Given the description of an element on the screen output the (x, y) to click on. 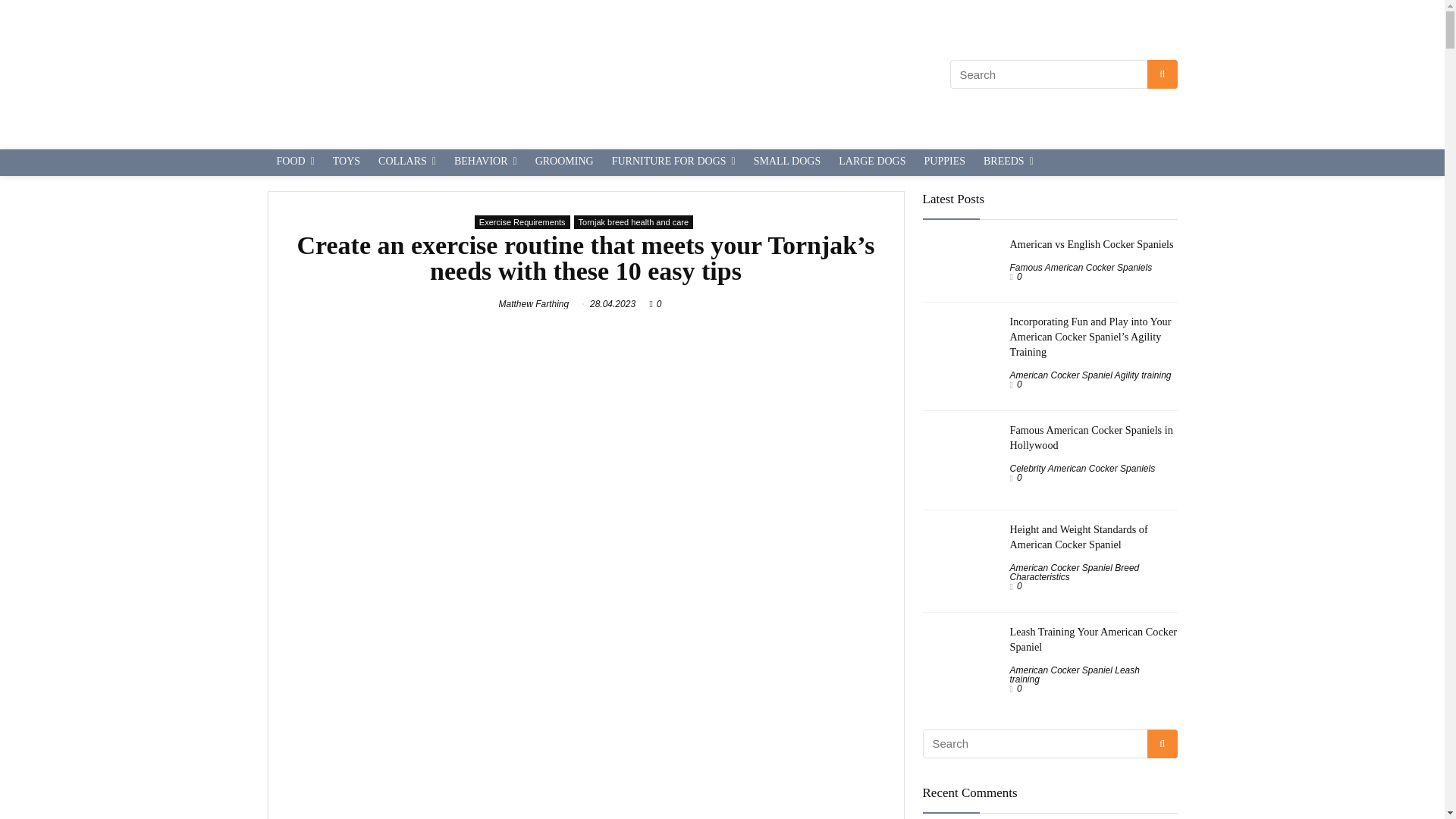
FURNITURE FOR DOGS (673, 162)
View all posts in Exercise Requirements (522, 222)
Tornjak breed health and care (633, 222)
0 (659, 303)
View all posts in Tornjak breed health and care (633, 222)
GROOMING (563, 162)
LARGE DOGS (871, 162)
BEHAVIOR (485, 162)
FOOD (294, 162)
Exercise Requirements (522, 222)
COLLARS (407, 162)
Matthew Farthing (534, 303)
PUPPIES (944, 162)
BREEDS (1008, 162)
SMALL DOGS (786, 162)
